Given the description of an element on the screen output the (x, y) to click on. 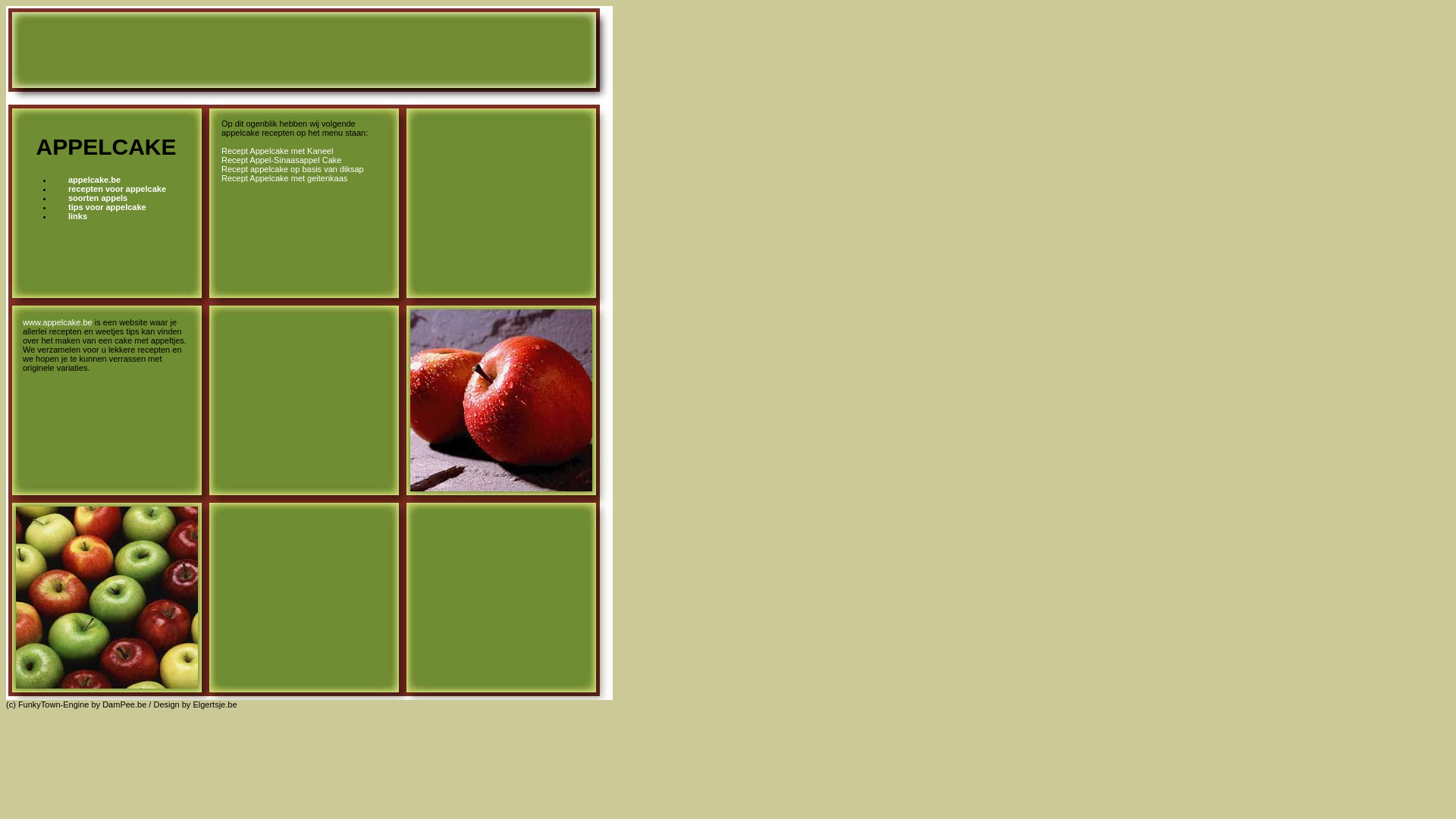
Recept Appelcake met geitenkaas Element type: text (284, 177)
Advertisement Element type: hover (316, 49)
Advertisement Element type: hover (495, 153)
recepten voor appelcake Element type: text (117, 188)
links Element type: text (77, 215)
www.appelcake.be Element type: text (57, 321)
appelcake.be Element type: text (94, 179)
Recept Appel-Sinaasappel Cake Element type: text (281, 159)
DamPee.be Element type: text (124, 704)
tips voor appelcake Element type: text (107, 206)
Elgertsje.be Element type: text (214, 704)
Recept appelcake op basis van diksap Element type: text (292, 168)
Recept Appelcake met Kaneel Element type: text (276, 150)
soorten appels Element type: text (97, 197)
